Given the description of an element on the screen output the (x, y) to click on. 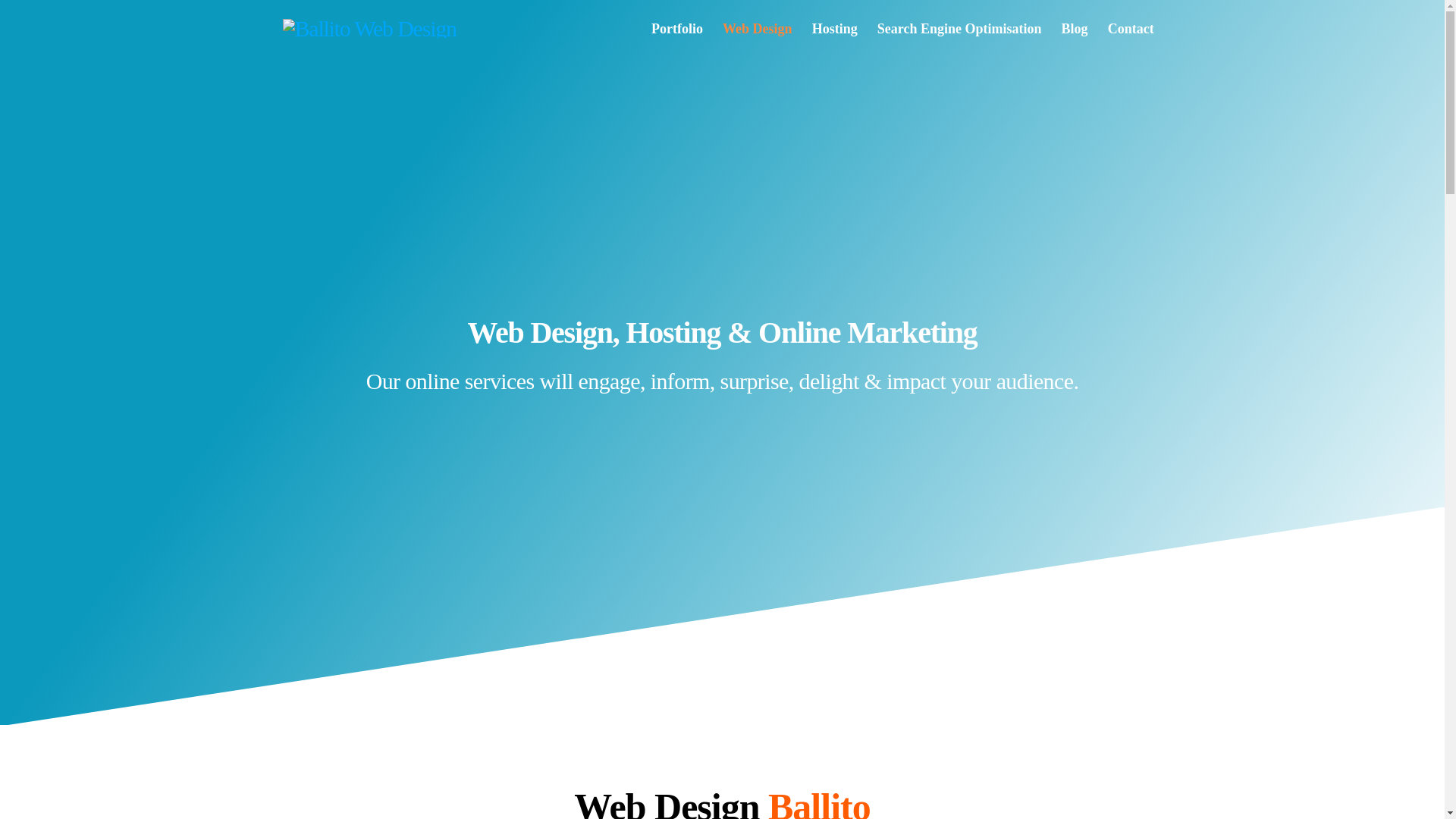
Web Design (756, 28)
Search Engine Optimisation (959, 28)
Ballito Web Design (368, 27)
Contact (1130, 28)
Hosting (834, 28)
Blog (1074, 28)
Portfolio (677, 28)
